Given the description of an element on the screen output the (x, y) to click on. 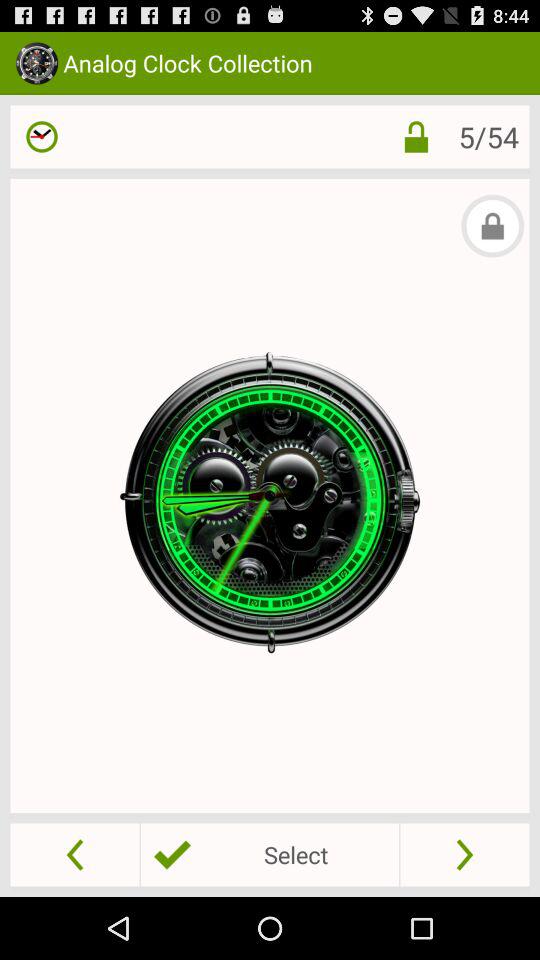
turn off the item next to 5/54 icon (416, 136)
